Given the description of an element on the screen output the (x, y) to click on. 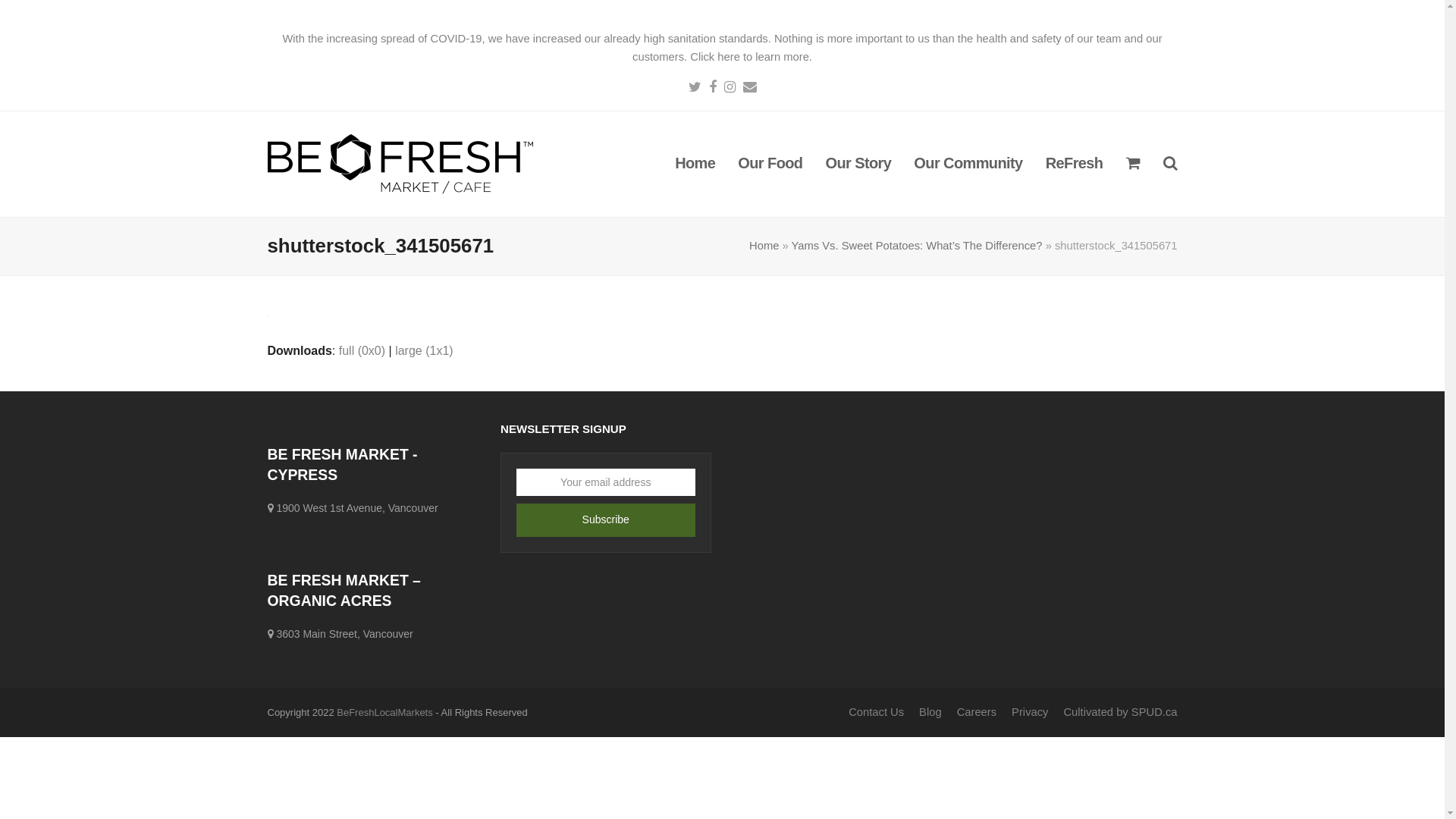
Contact Us Element type: text (875, 712)
BeFreshLocalMarkets Element type: text (384, 712)
large (1x1) Element type: text (423, 350)
full (0x0) Element type: text (361, 350)
Privacy Element type: text (1029, 712)
ReFresh Element type: text (1074, 164)
Instagram Element type: text (728, 86)
Twitter Element type: text (694, 86)
Blog Element type: text (930, 712)
Home Element type: text (763, 245)
Subscribe Element type: text (605, 519)
Our Community Element type: text (967, 164)
Our Food Element type: text (769, 164)
BE FRESH MARKET - CYPRESS Element type: text (341, 464)
Facebook Element type: text (711, 86)
Our Story Element type: text (857, 164)
Careers Element type: text (976, 712)
Cultivated by SPUD.ca Element type: text (1119, 712)
Email Element type: text (749, 86)
Home Element type: text (694, 164)
